Given the description of an element on the screen output the (x, y) to click on. 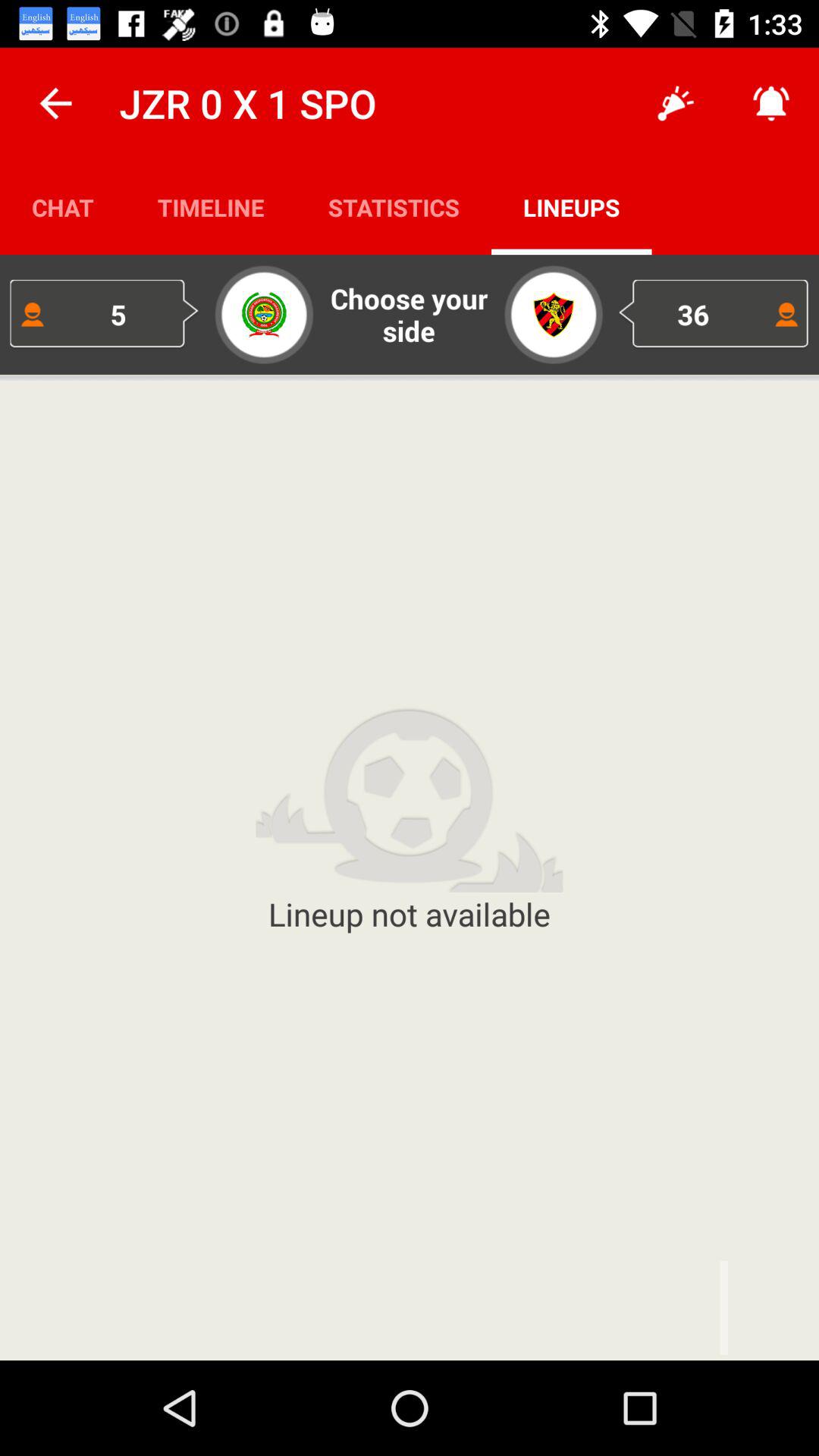
turn on the icon next to the statistics icon (675, 103)
